Given the description of an element on the screen output the (x, y) to click on. 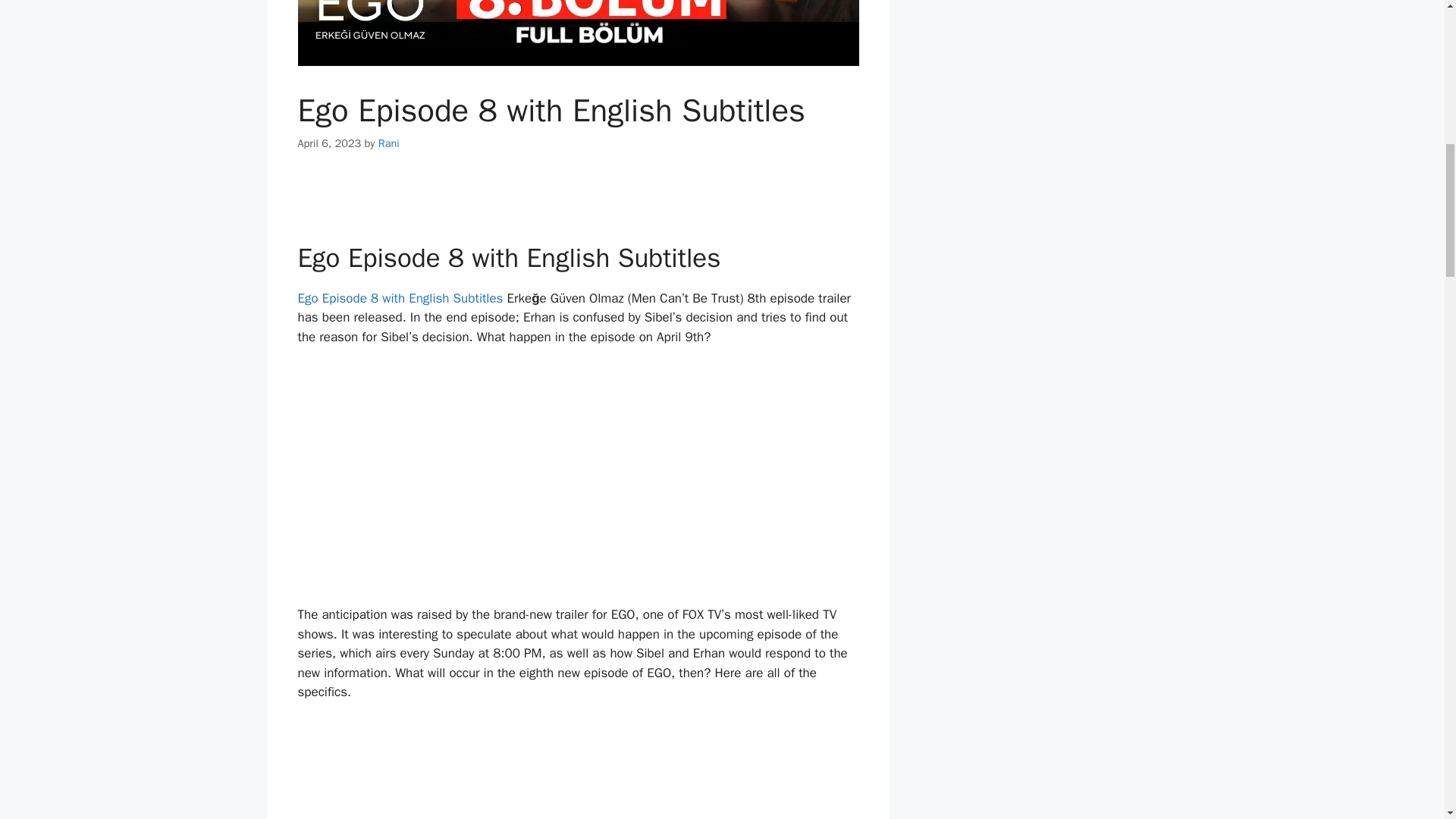
View all posts by Rani (388, 142)
Advertisement (581, 479)
Advertisement (581, 770)
Ego Episode 8 with English Subtitles (399, 298)
Rani (388, 142)
